Given the description of an element on the screen output the (x, y) to click on. 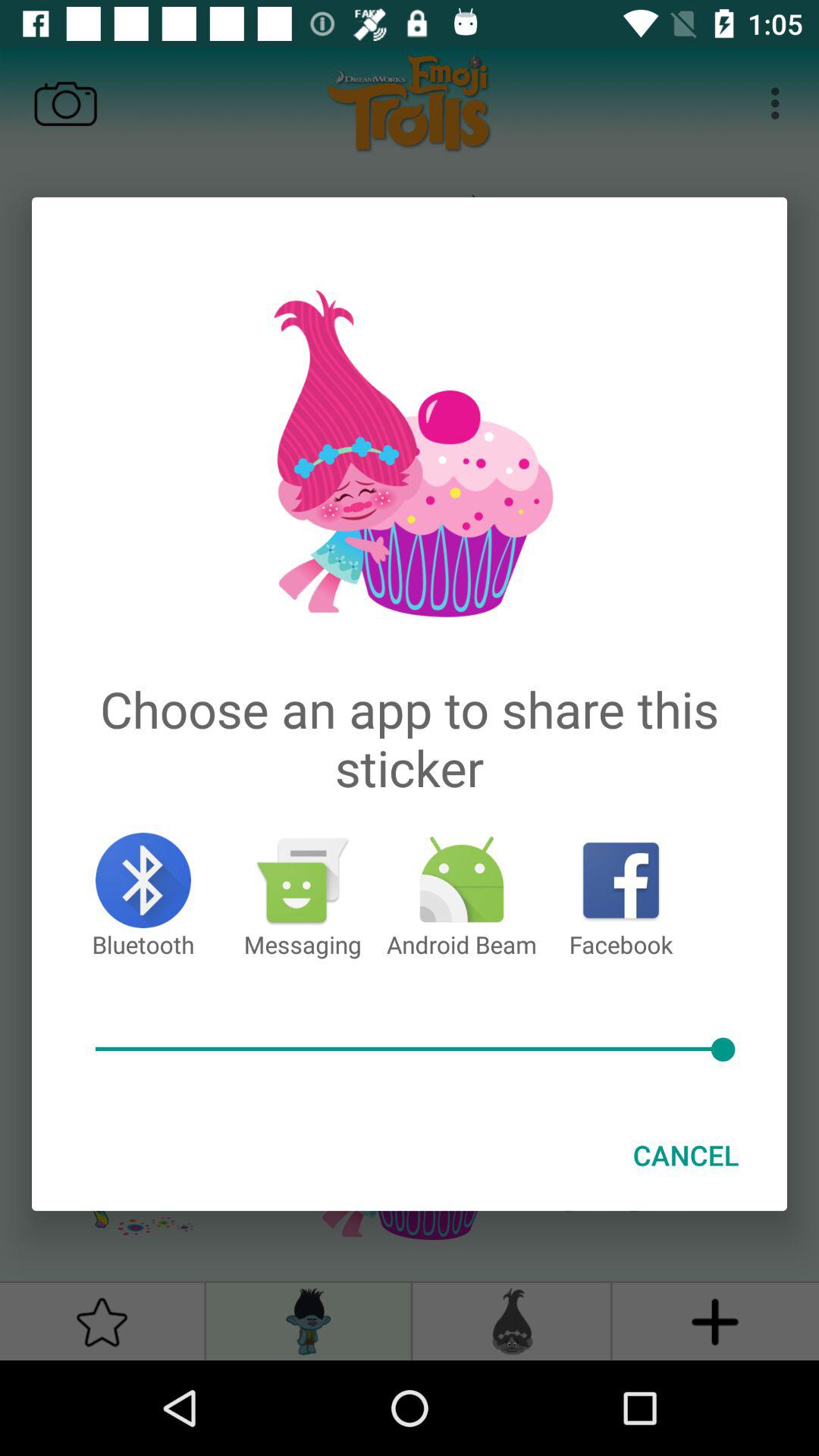
scroll to cancel item (686, 1154)
